Given the description of an element on the screen output the (x, y) to click on. 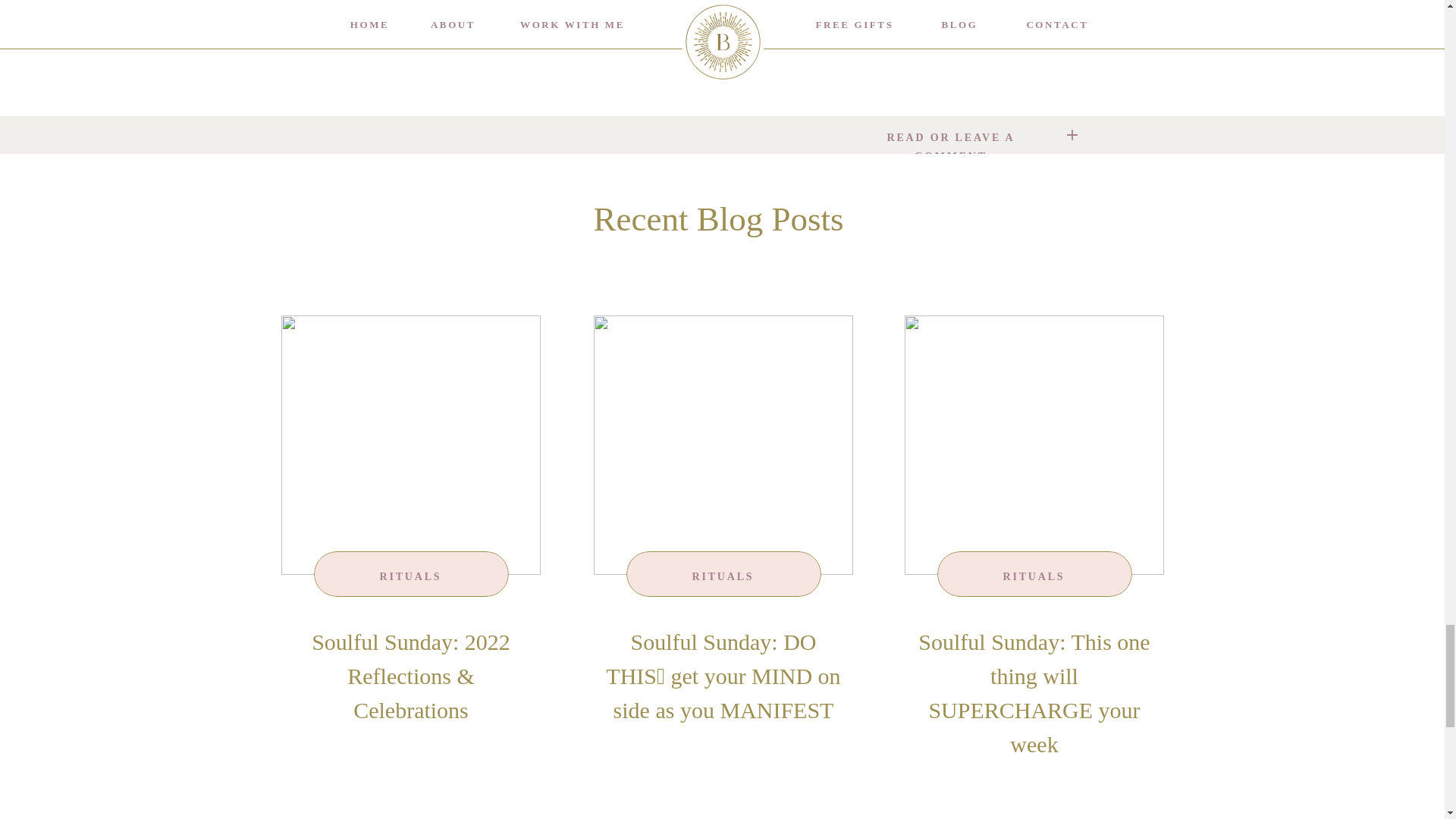
RITUALS (1034, 576)
READ OR LEAVE A COMMENT (950, 133)
RITUALS (723, 576)
RITUALS (411, 576)
Soulful Sunday: This one thing will SUPERCHARGE your week (1034, 692)
Soulful Sunday: This one thing will SUPERCHARGE your week (1033, 444)
